Given the description of an element on the screen output the (x, y) to click on. 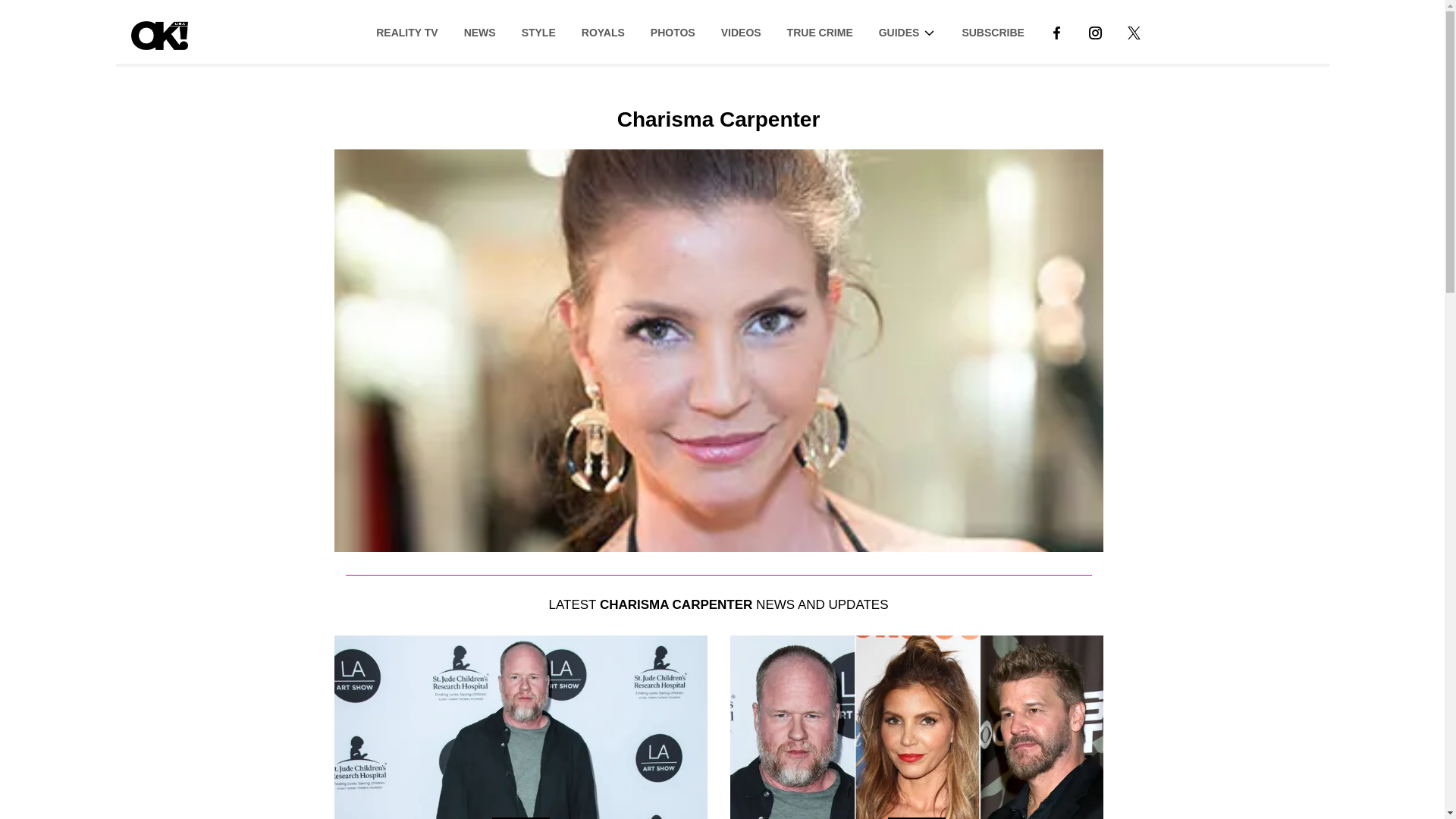
SUBSCRIBE (992, 31)
Link to Instagram (1095, 31)
VIDEOS (740, 31)
LINK TO X (1134, 31)
NEWS (479, 31)
LINK TO X (1133, 32)
TRUE CRIME (820, 31)
LINK TO FACEBOOK (1055, 31)
